Given the description of an element on the screen output the (x, y) to click on. 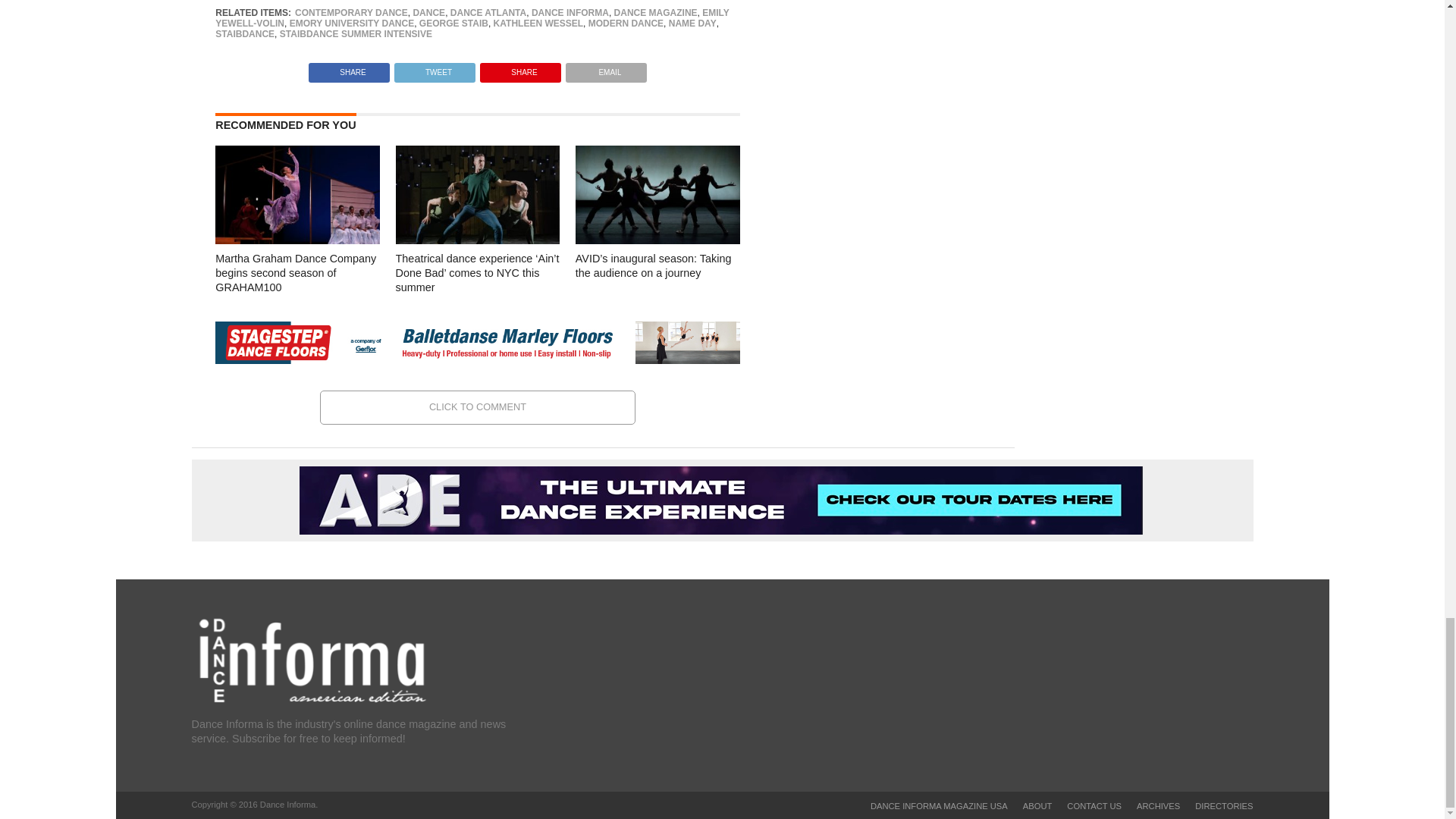
Pin This Post (520, 68)
Tweet This Post (434, 68)
Share on Facebook (349, 68)
